Given the description of an element on the screen output the (x, y) to click on. 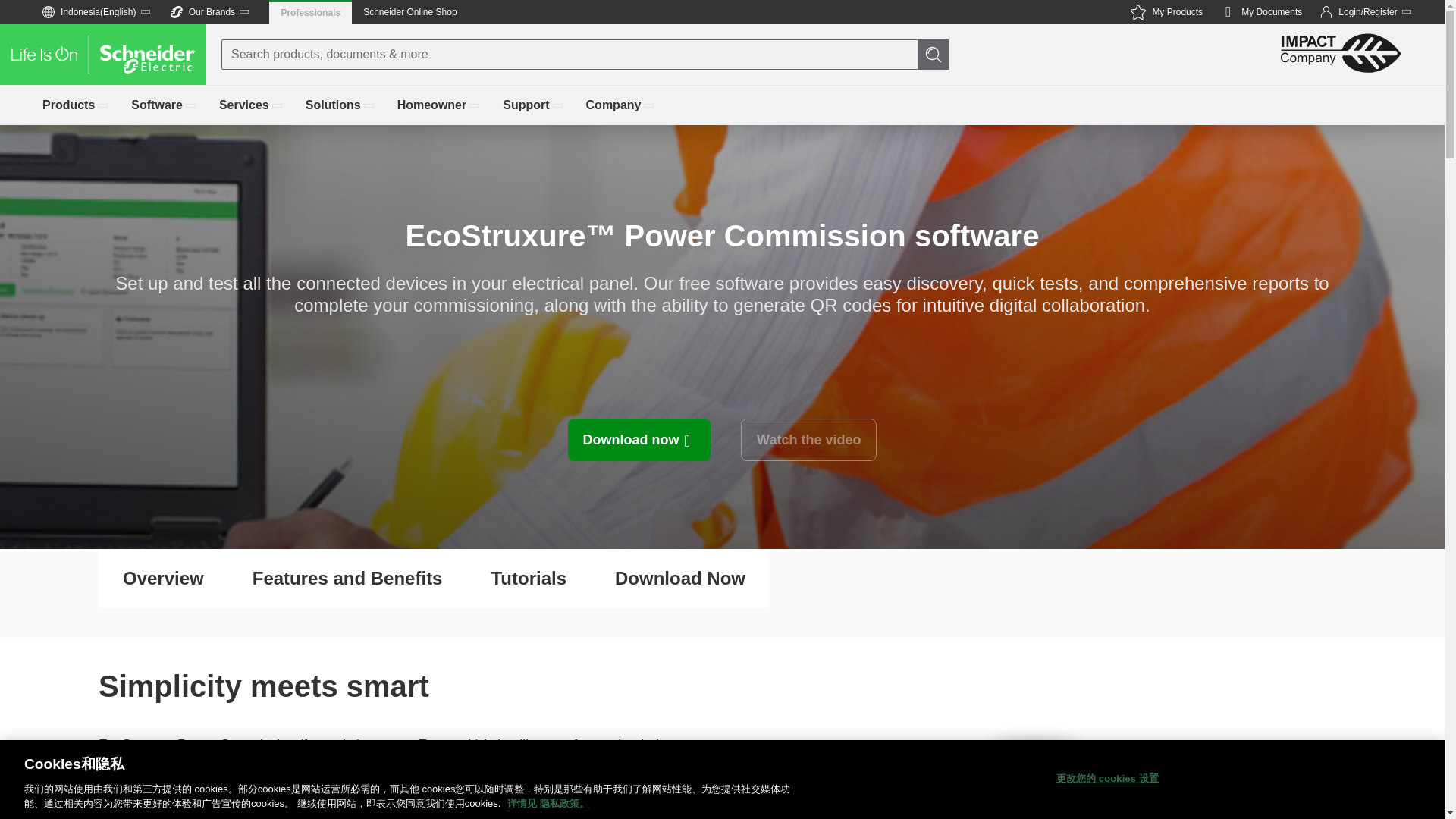
Professionals (310, 12)
Schneider Online Shop (409, 12)
Company (621, 105)
Download now (639, 439)
SE logo LIO white header (103, 54)
Search (15, 15)
Homeowner (1261, 12)
Software (439, 105)
Products (164, 105)
